Given the description of an element on the screen output the (x, y) to click on. 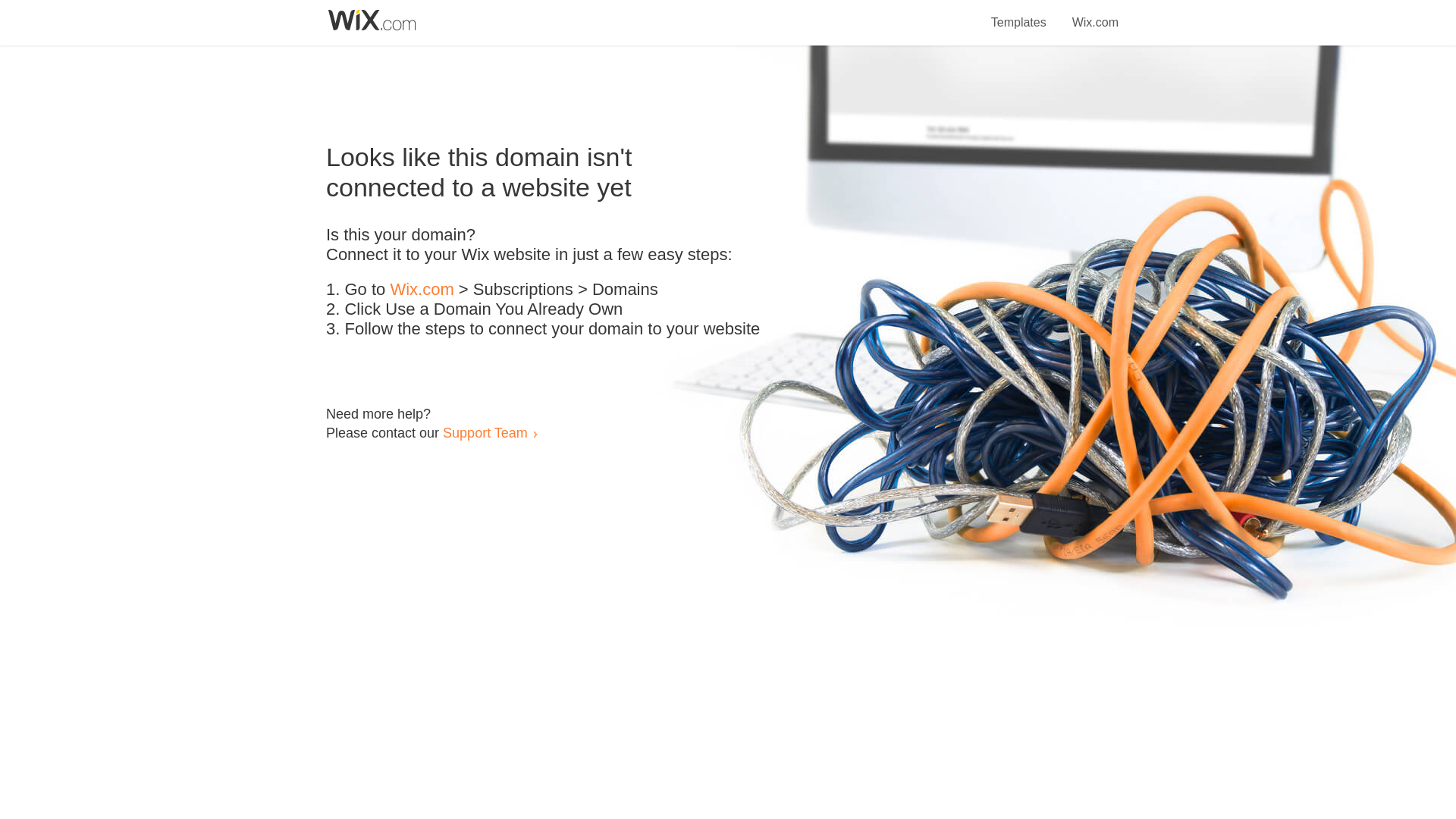
Wix.com (421, 289)
Templates (1018, 14)
Support Team (484, 432)
Wix.com (1095, 14)
